Given the description of an element on the screen output the (x, y) to click on. 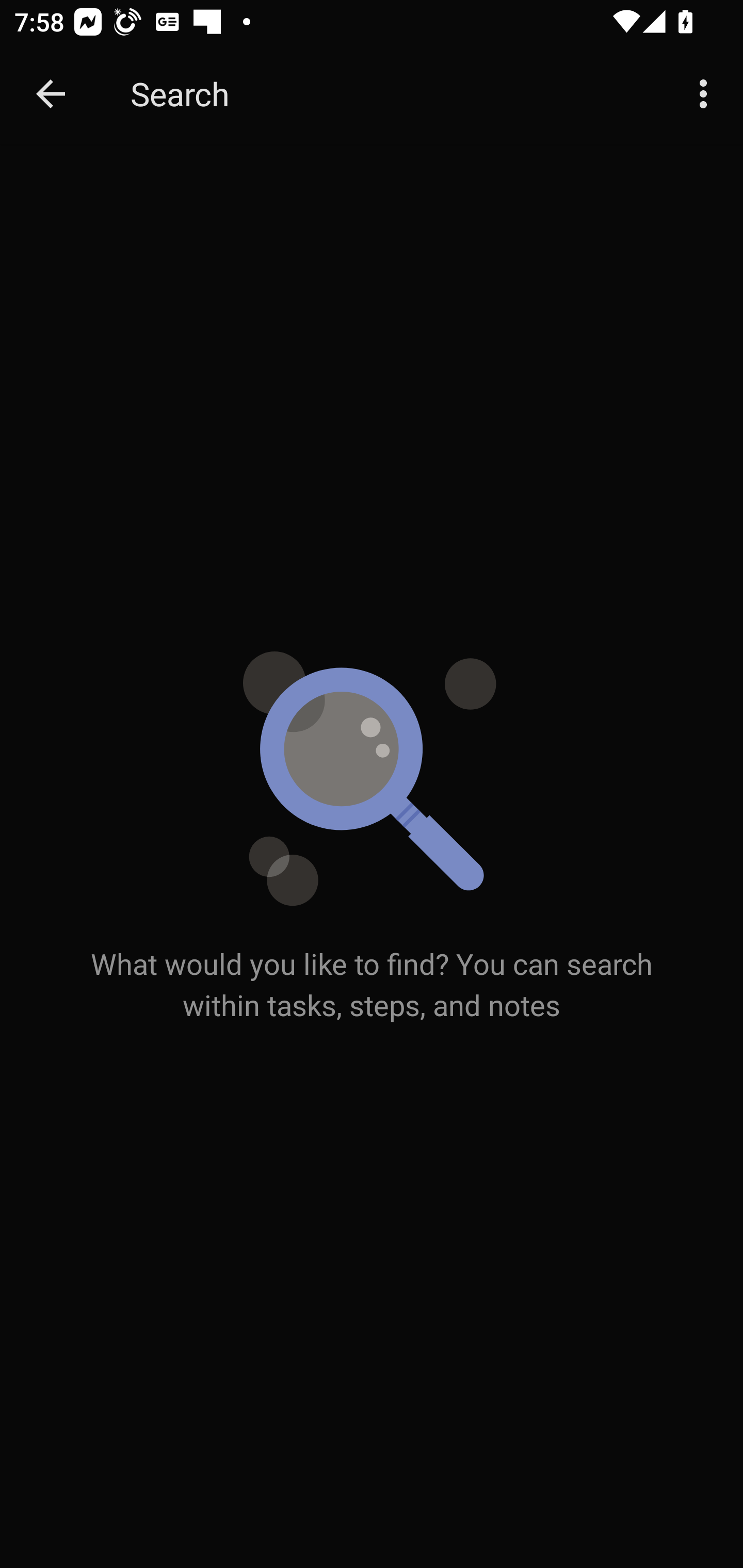
Navigate up (50, 93)
More options (706, 93)
Search (393, 94)
